Given the description of an element on the screen output the (x, y) to click on. 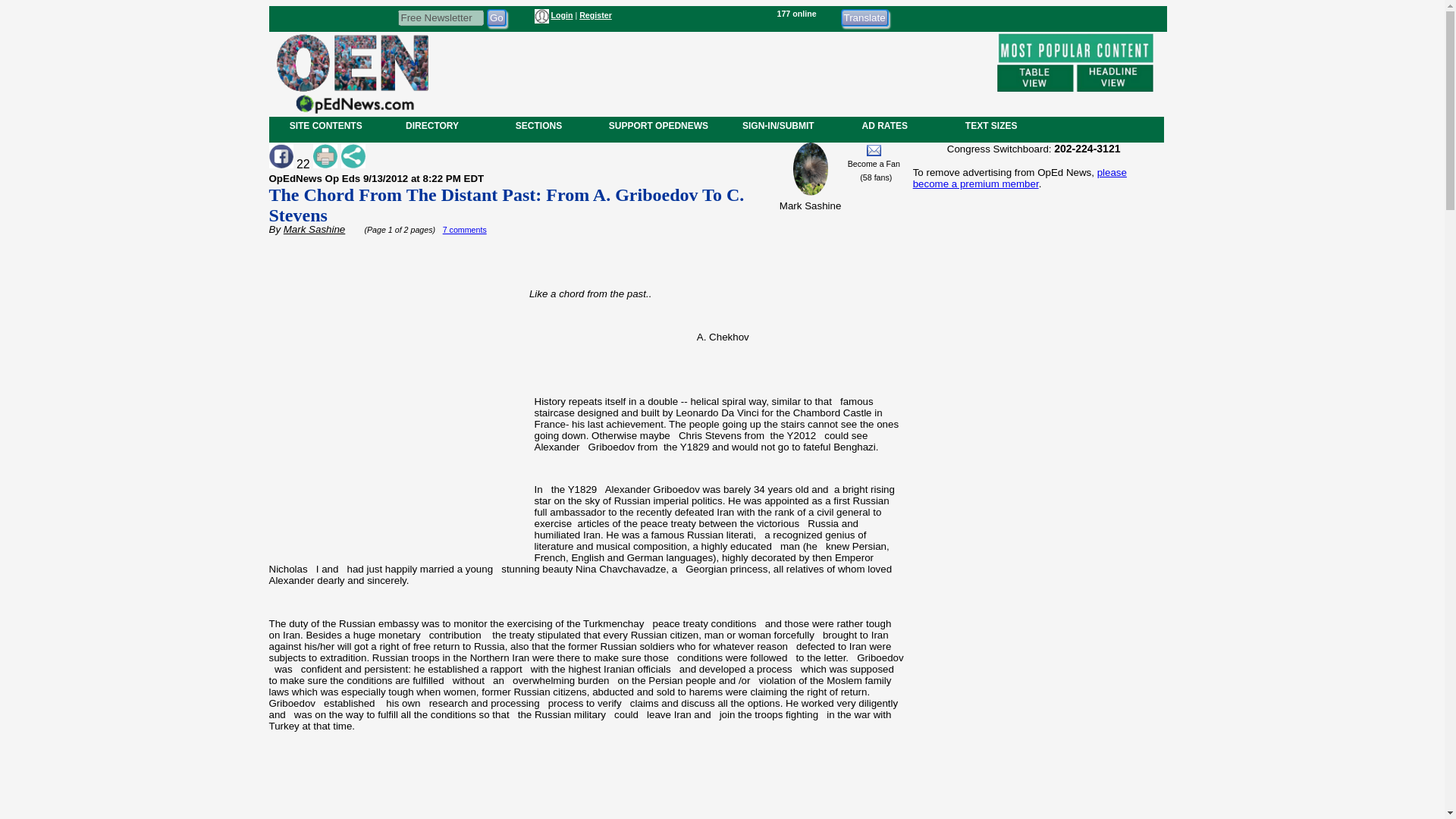
Translate (864, 17)
Register (595, 14)
Go (496, 17)
Printer Friendly Page (325, 156)
Advertisement (586, 780)
AD RATES (884, 125)
Become a Fan (873, 163)
TEXT SIZES (990, 125)
SECTIONS (537, 125)
